Given the description of an element on the screen output the (x, y) to click on. 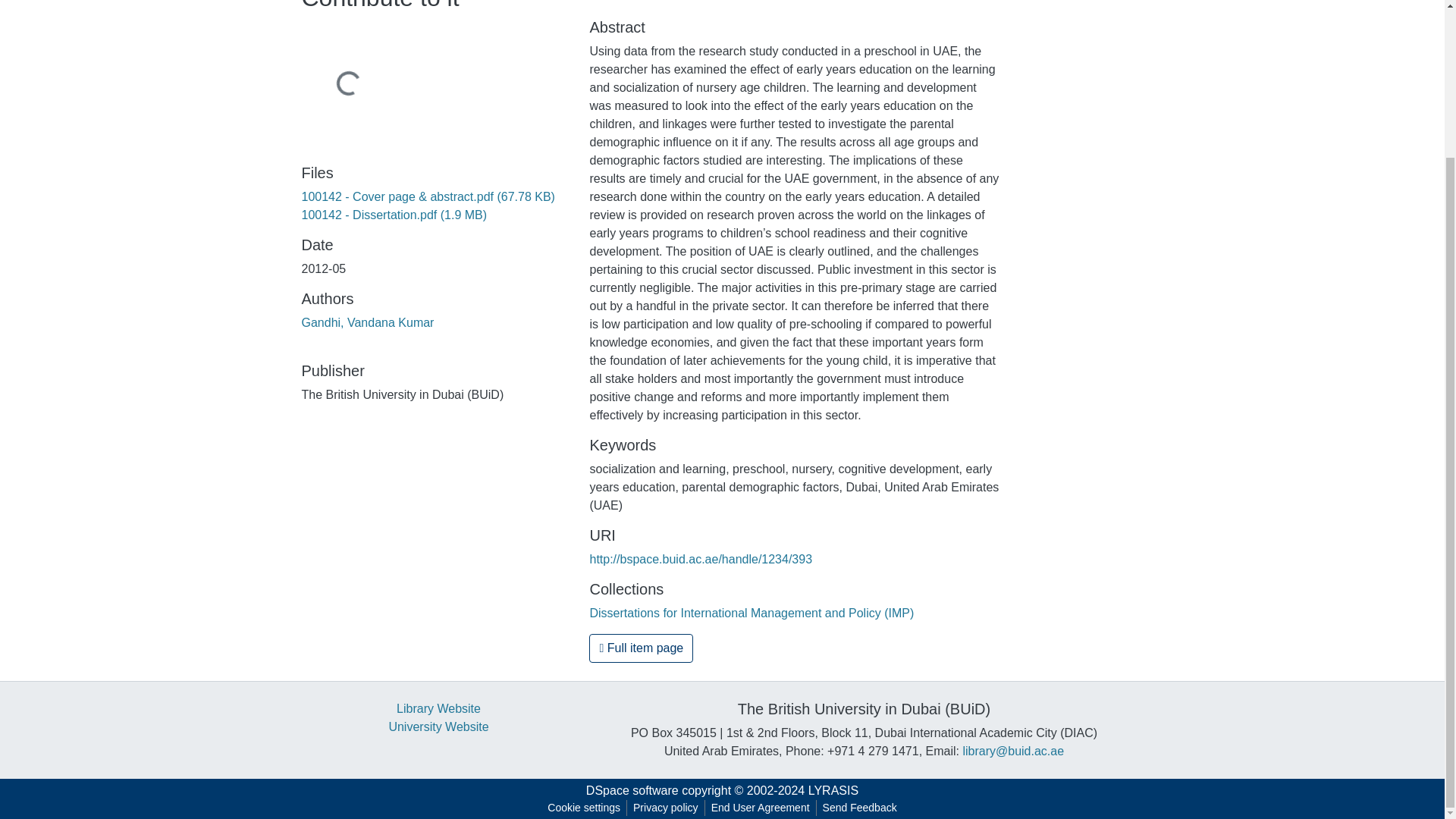
End User Agreement (759, 807)
Library Website (438, 707)
Full item page (641, 647)
Cookie settings (583, 807)
Privacy policy (665, 807)
Gandhi, Vandana Kumar (367, 322)
University Website (437, 726)
Send Feedback (859, 807)
LYRASIS (833, 789)
DSpace software (632, 789)
